Given the description of an element on the screen output the (x, y) to click on. 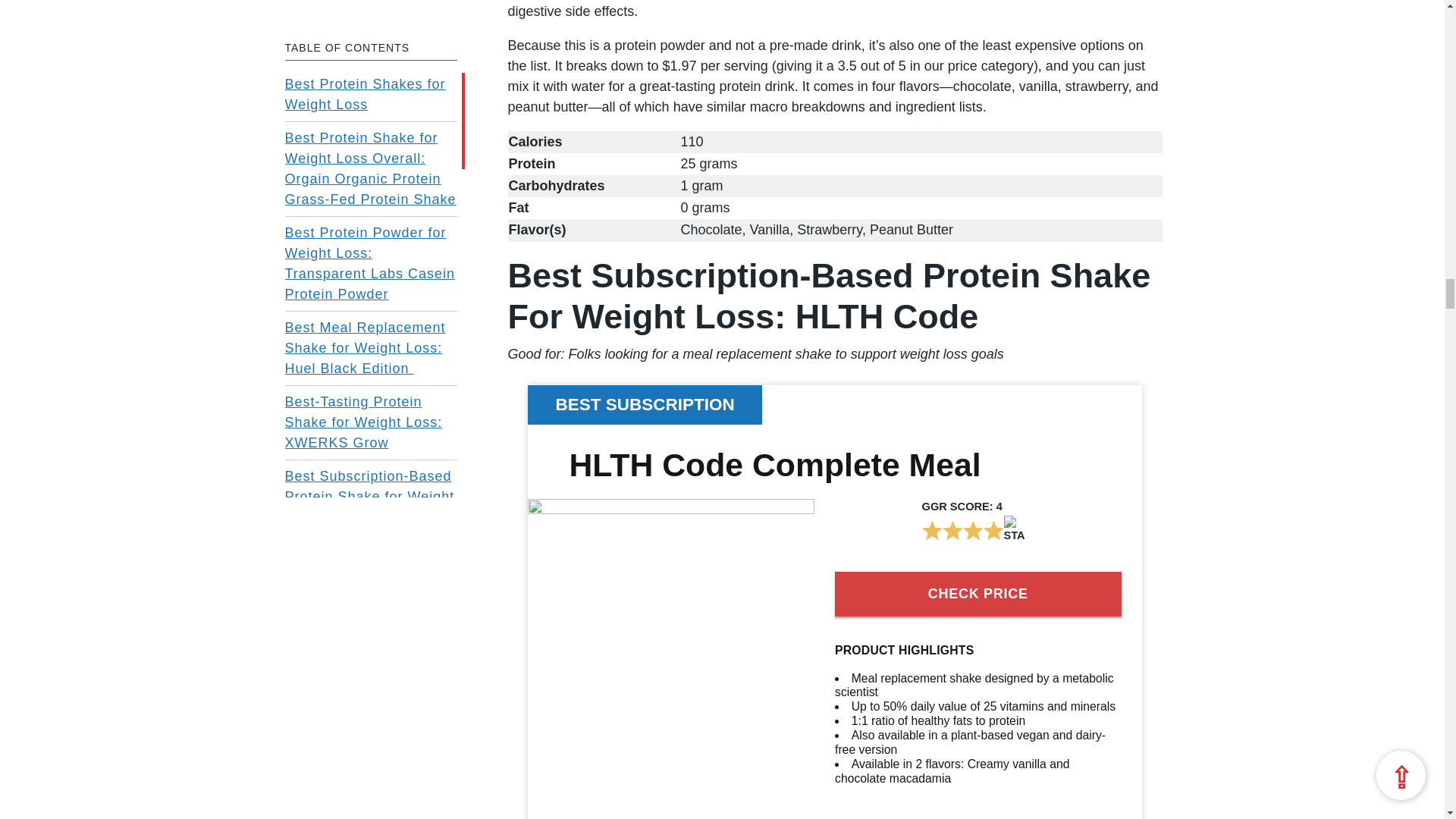
HLTH Code Complete Meal (774, 464)
HLTH Code Complete Meal (670, 509)
Check Price (977, 593)
